Given the description of an element on the screen output the (x, y) to click on. 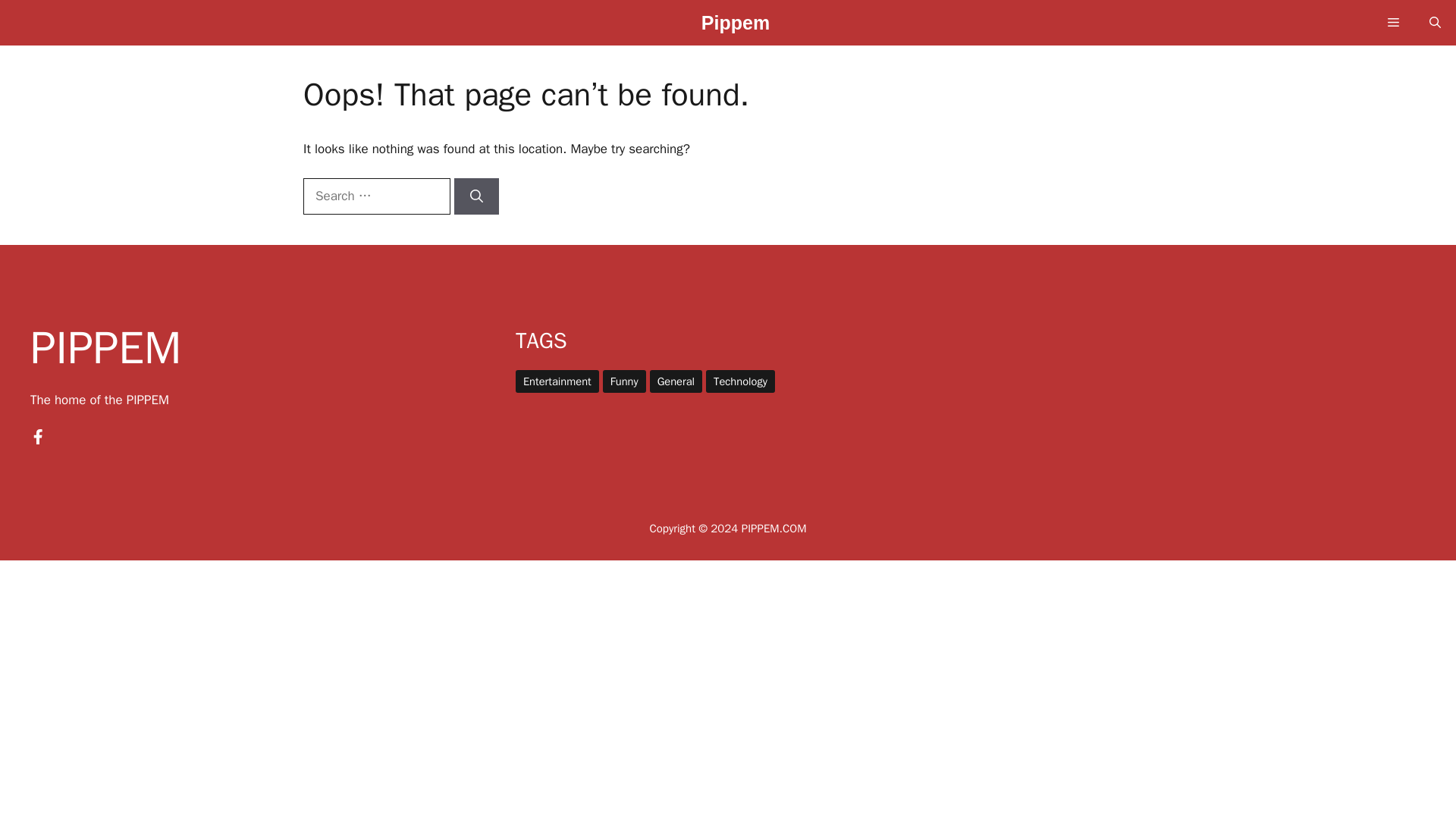
Funny (624, 381)
Entertainment (556, 381)
Search for: (375, 196)
General (675, 381)
Pippem (735, 26)
Technology (740, 381)
